Given the description of an element on the screen output the (x, y) to click on. 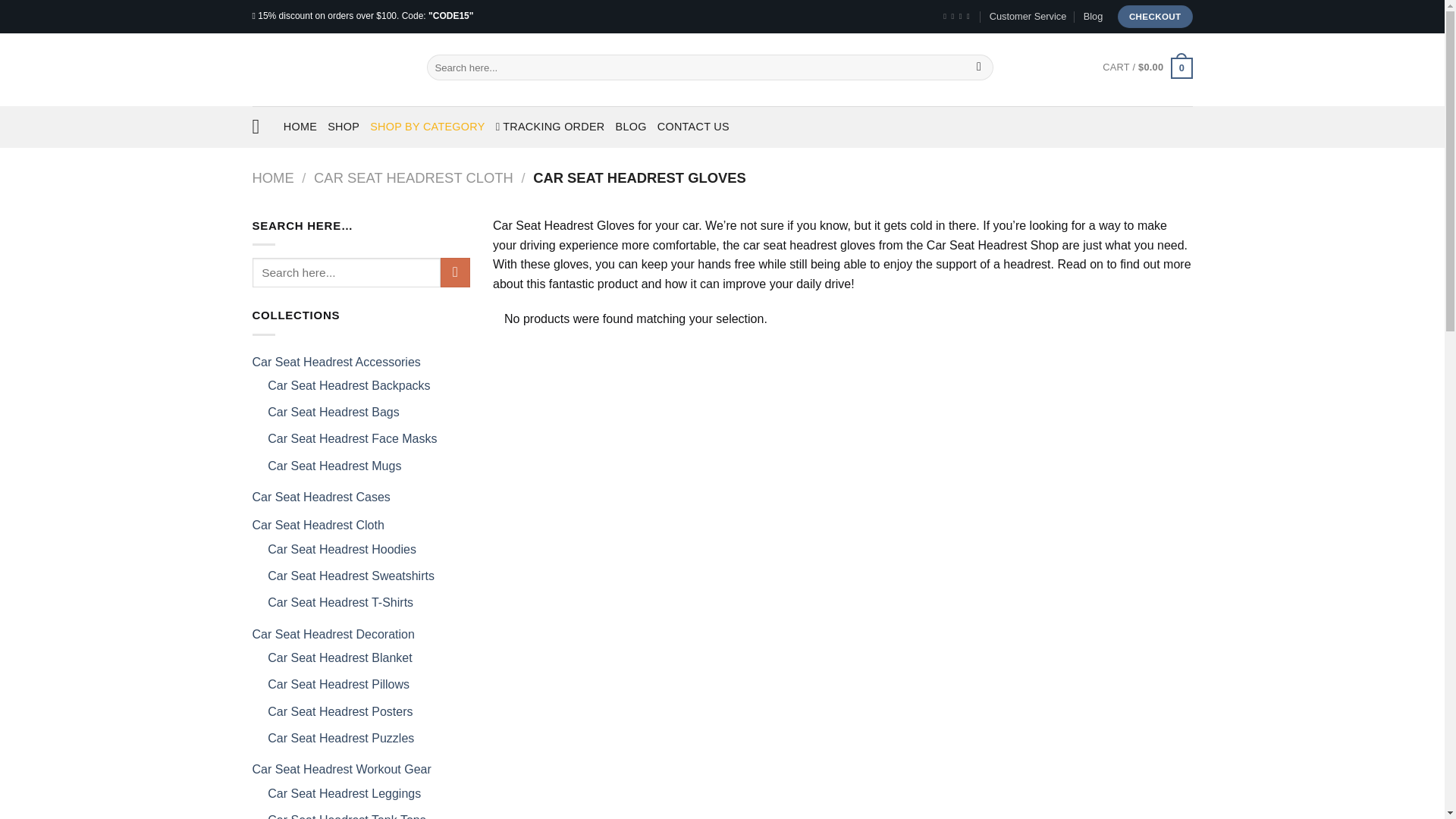
SHOP BY CATEGORY (426, 126)
CHECKOUT (1155, 15)
HOME (300, 126)
Send us an email (970, 16)
Follow on Twitter (962, 16)
Cart (1147, 67)
SHOP (343, 126)
Customer Service (1028, 15)
Search (978, 67)
Follow on Facebook (946, 16)
